Given the description of an element on the screen output the (x, y) to click on. 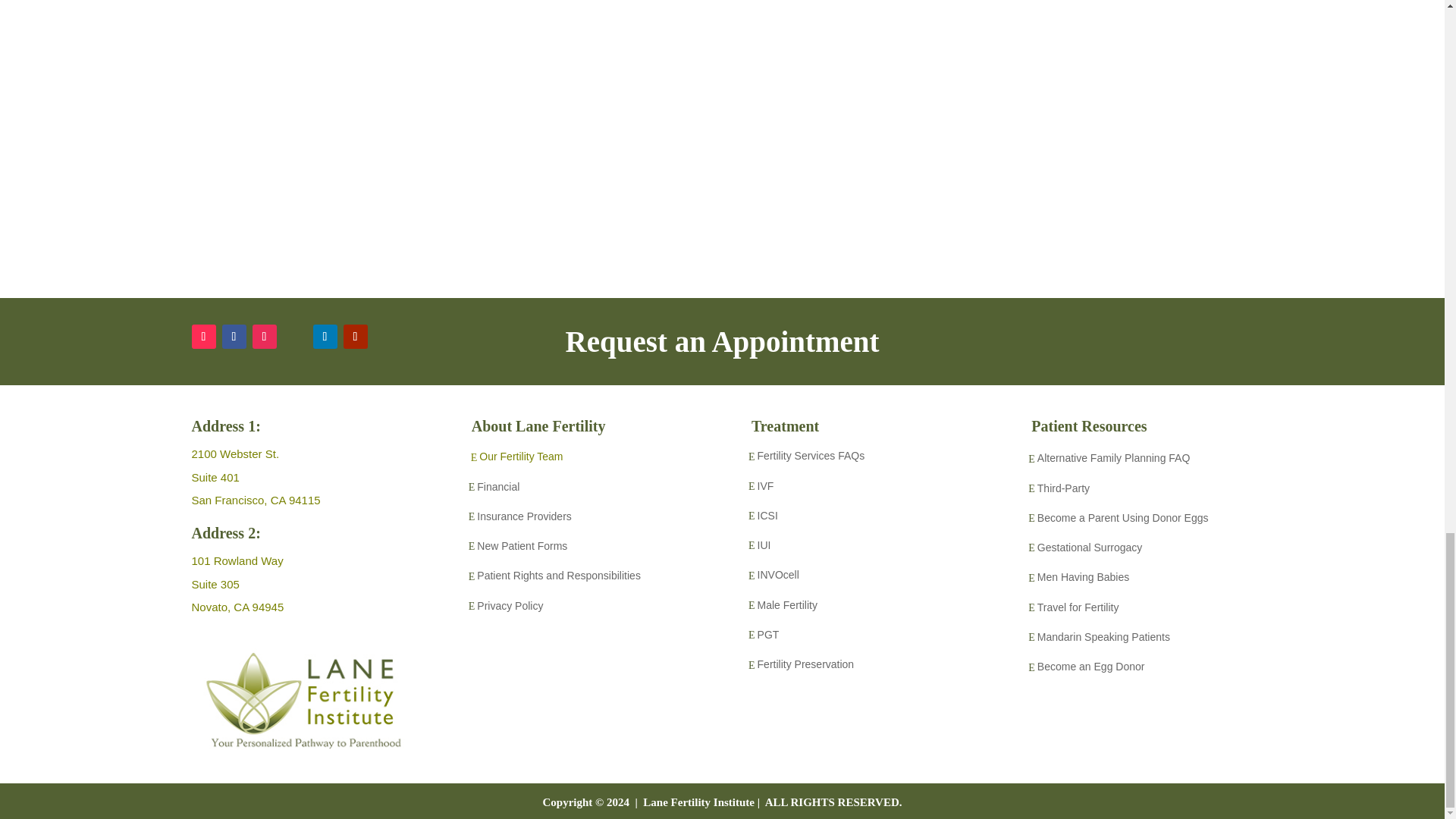
Follow on  (293, 336)
Follow on Youtube (354, 336)
Follow on TikTok (202, 336)
Follow on LinkedIn (324, 336)
Follow on Instagram (263, 336)
Follow on Facebook (233, 336)
